Given the description of an element on the screen output the (x, y) to click on. 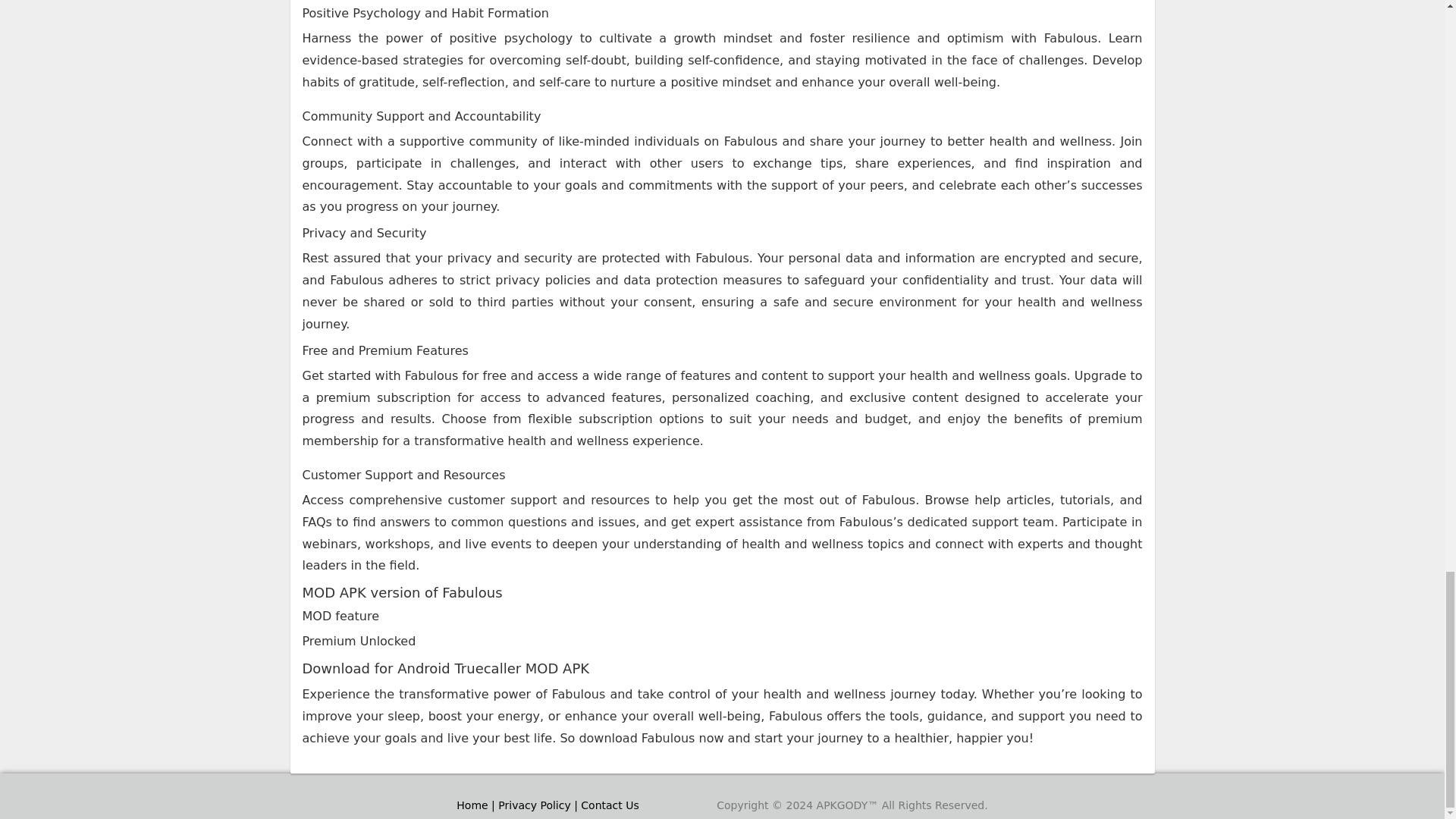
Contact Us (609, 805)
